Given the description of an element on the screen output the (x, y) to click on. 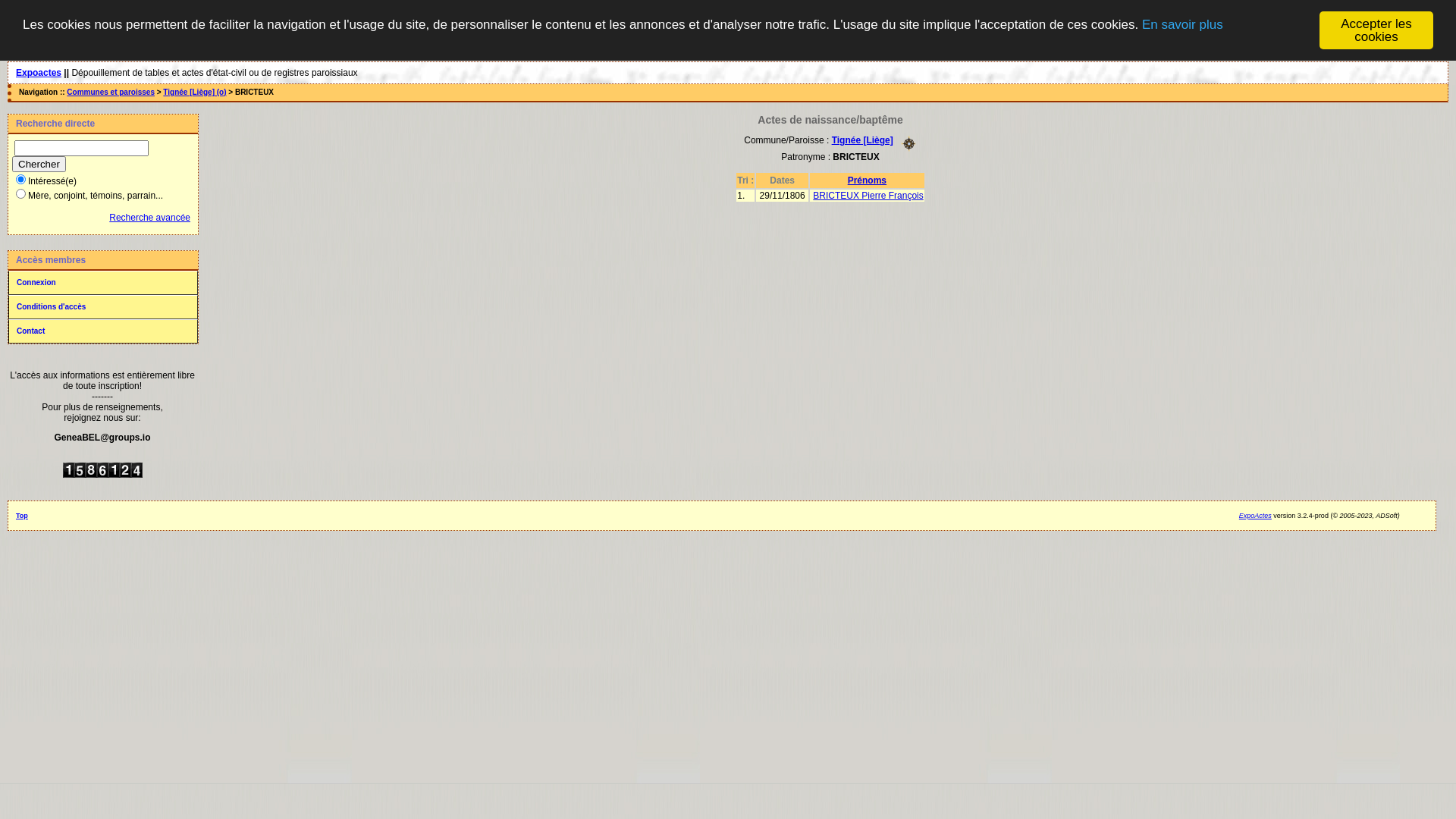
En savoir plus Element type: text (1182, 23)
Accepter les cookies Element type: text (1376, 30)
Contact Element type: text (102, 331)
Top Element type: text (21, 515)
Expoactes Element type: text (38, 72)
ExpoActes Element type: text (1255, 515)
Carte Element type: hover (908, 142)
Connexion Element type: text (102, 282)
Communes et paroisses Element type: text (110, 91)
Chercher Element type: text (38, 164)
